Given the description of an element on the screen output the (x, y) to click on. 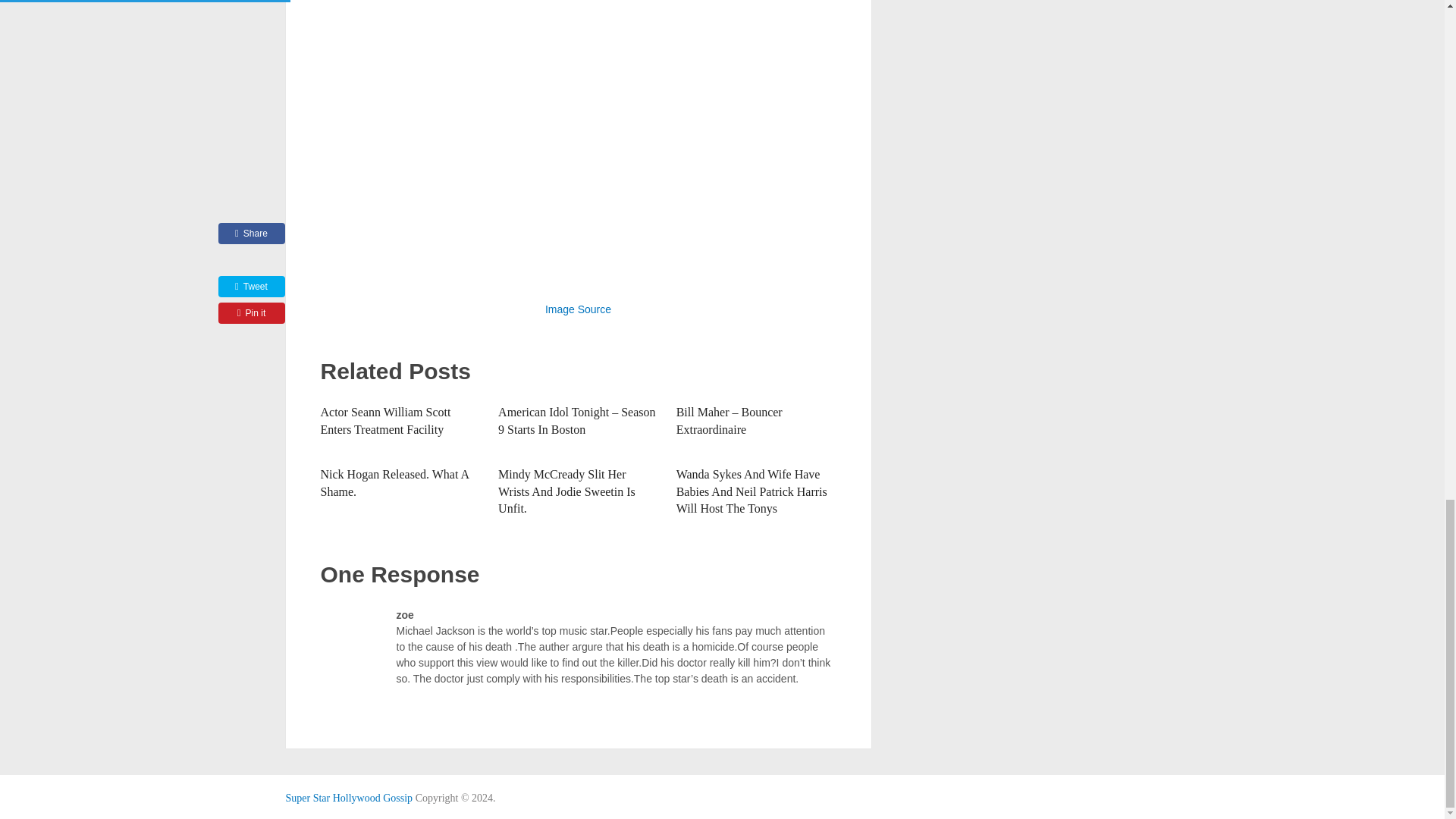
Image Source (577, 309)
Nick Hogan Released. What A Shame. (394, 482)
michael jackson death ruled a homicide (577, 137)
Actor Seann William Scott Enters Treatment Facility (384, 419)
Mindy McCready Slit Her Wrists And Jodie Sweetin Is Unfit. (565, 491)
Actor Seann William Scott Enters Treatment Facility (384, 419)
Super Star Hollywood Gossip (348, 797)
Mindy McCready Slit Her Wrists And Jodie Sweetin Is Unfit. (565, 491)
Nick Hogan Released. What A Shame. (394, 482)
